Given the description of an element on the screen output the (x, y) to click on. 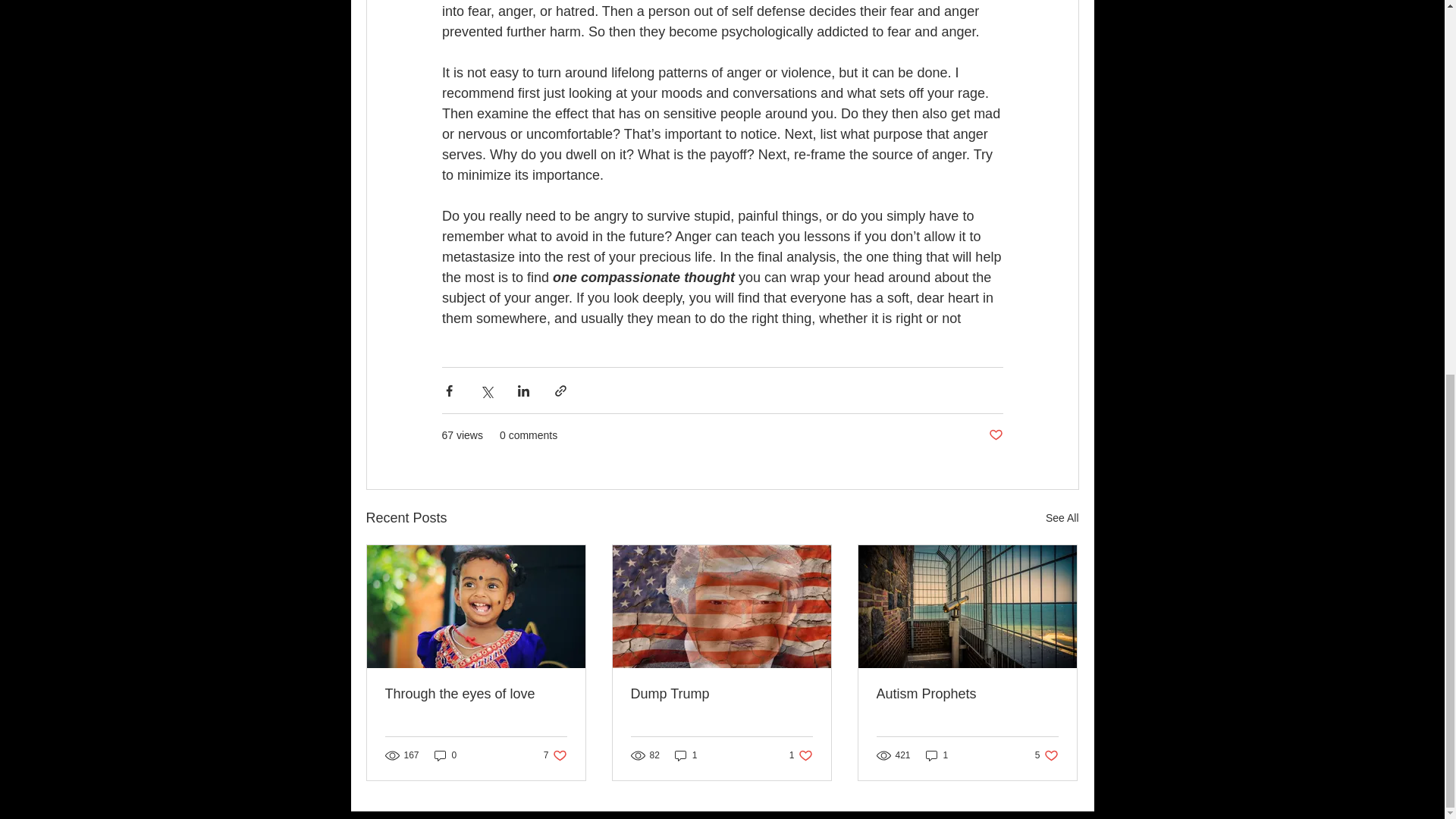
0 (445, 755)
1 (555, 755)
Autism Prophets (800, 755)
See All (937, 755)
1 (967, 693)
Post not marked as liked (1061, 517)
Dump Trump (685, 755)
